Given the description of an element on the screen output the (x, y) to click on. 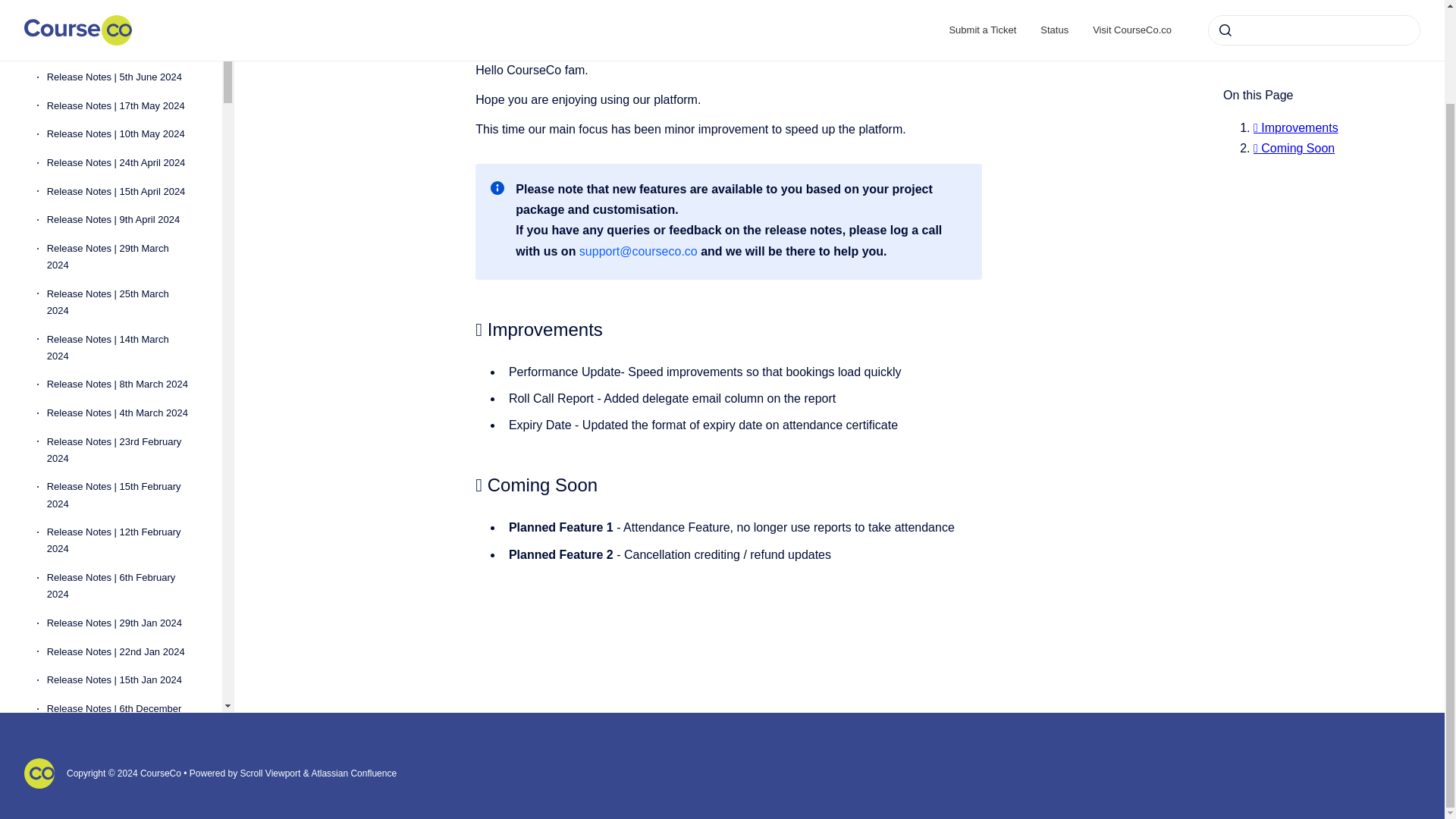
Copy to clipboard (468, 327)
Copy to clipboard (468, 483)
